Given the description of an element on the screen output the (x, y) to click on. 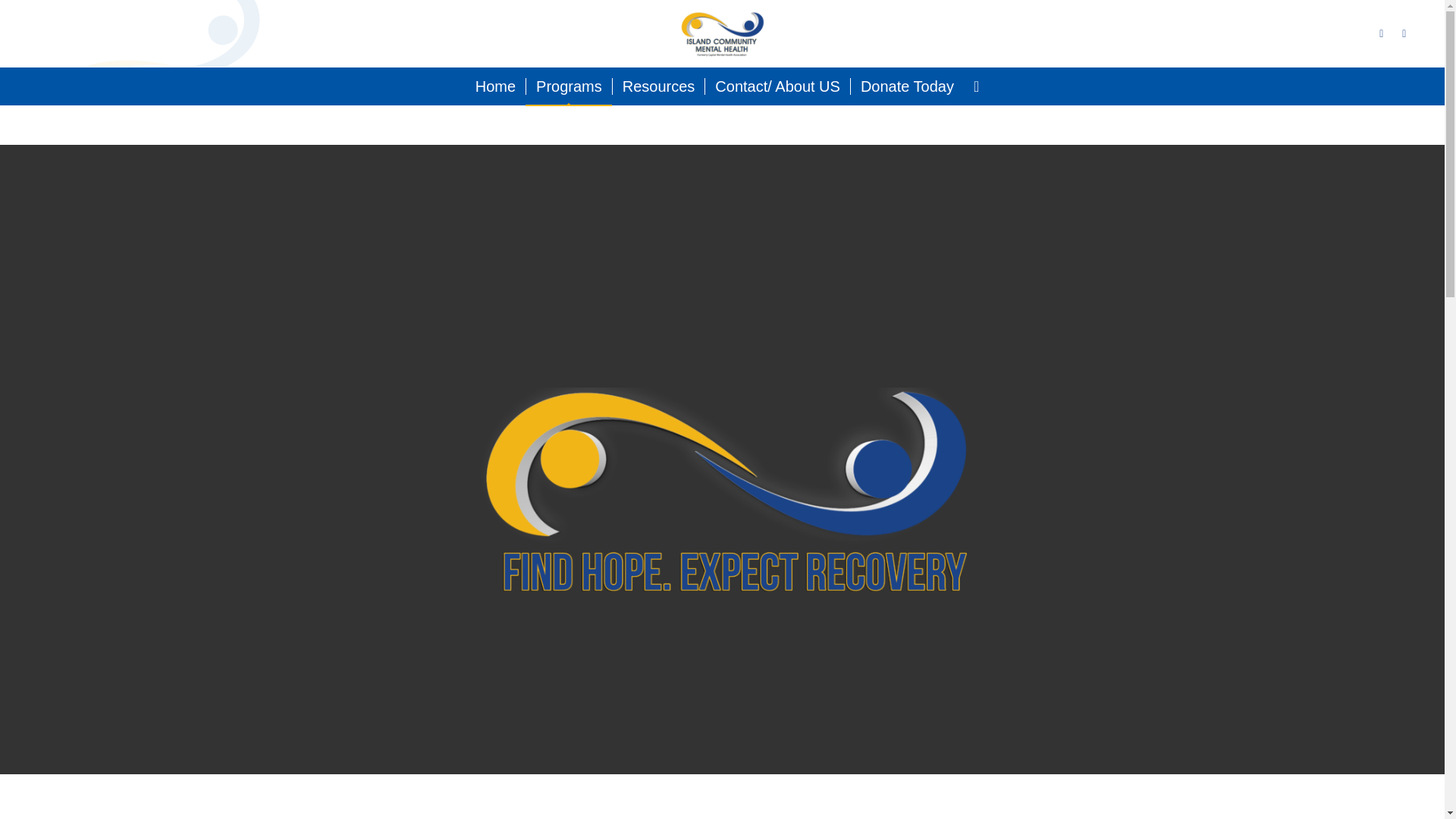
Twitter (1381, 33)
Resources (657, 86)
Home (495, 86)
Facebook (1404, 33)
Programs (568, 86)
Donate Today (906, 86)
